Given the description of an element on the screen output the (x, y) to click on. 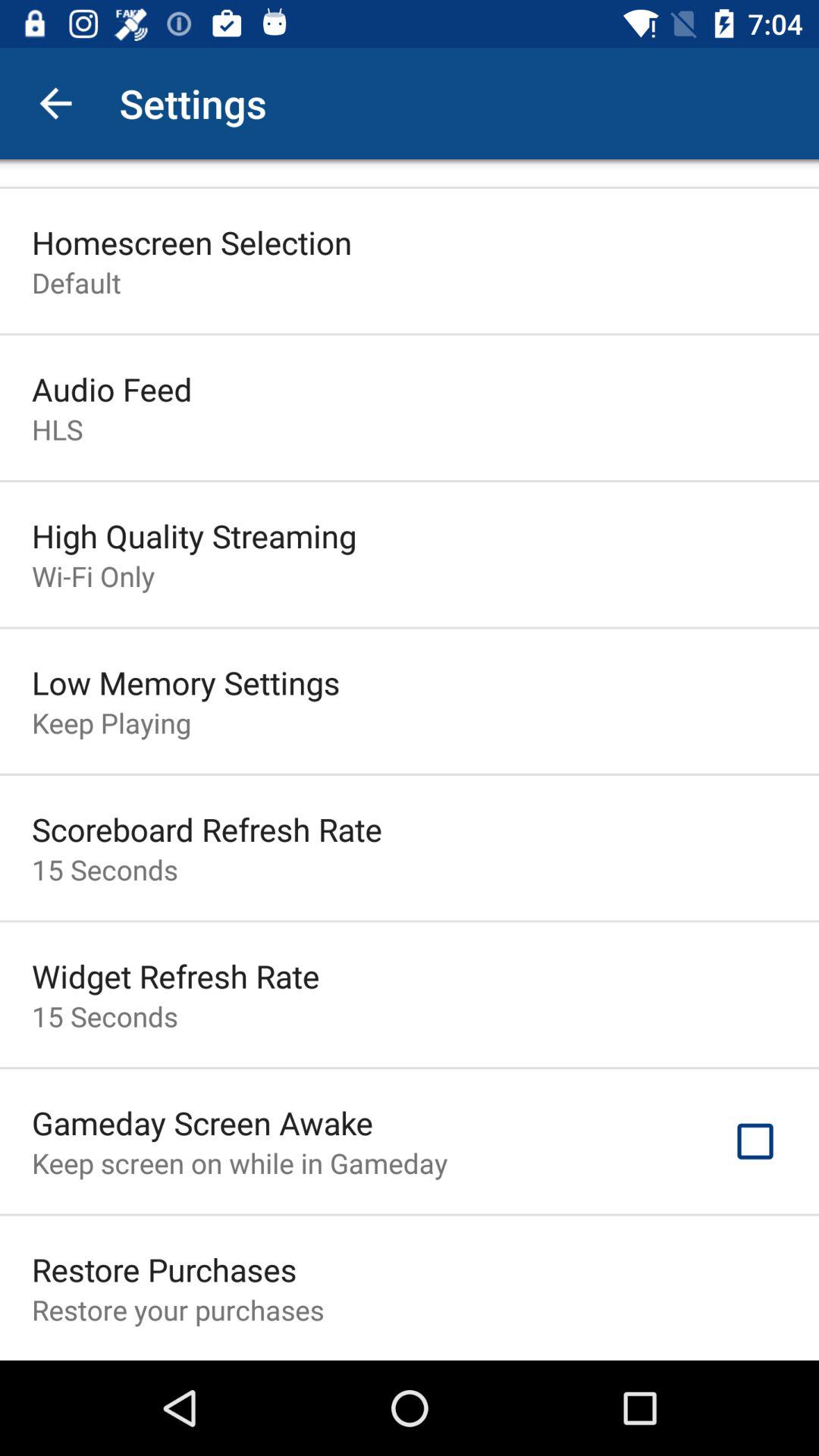
open the item above the keep playing item (185, 682)
